Given the description of an element on the screen output the (x, y) to click on. 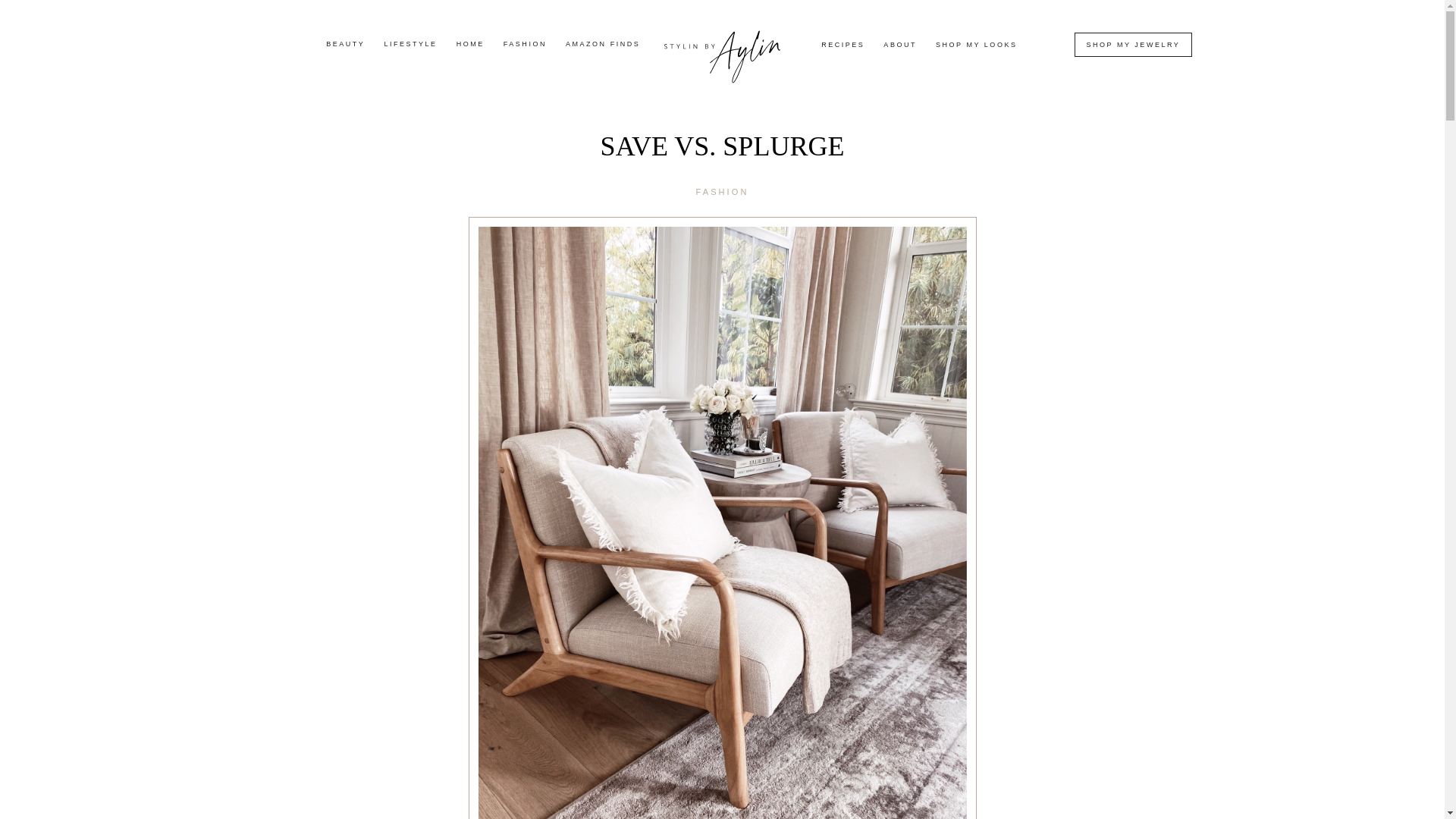
SHOP MY LOOKS (976, 44)
AMAZON FINDS (603, 43)
HOME (470, 43)
FASHION (525, 43)
LIFESTYLE (410, 43)
RECIPES (842, 44)
BEAUTY (345, 43)
ABOUT (900, 44)
SHOP MY JEWELRY (1133, 44)
